Given the description of an element on the screen output the (x, y) to click on. 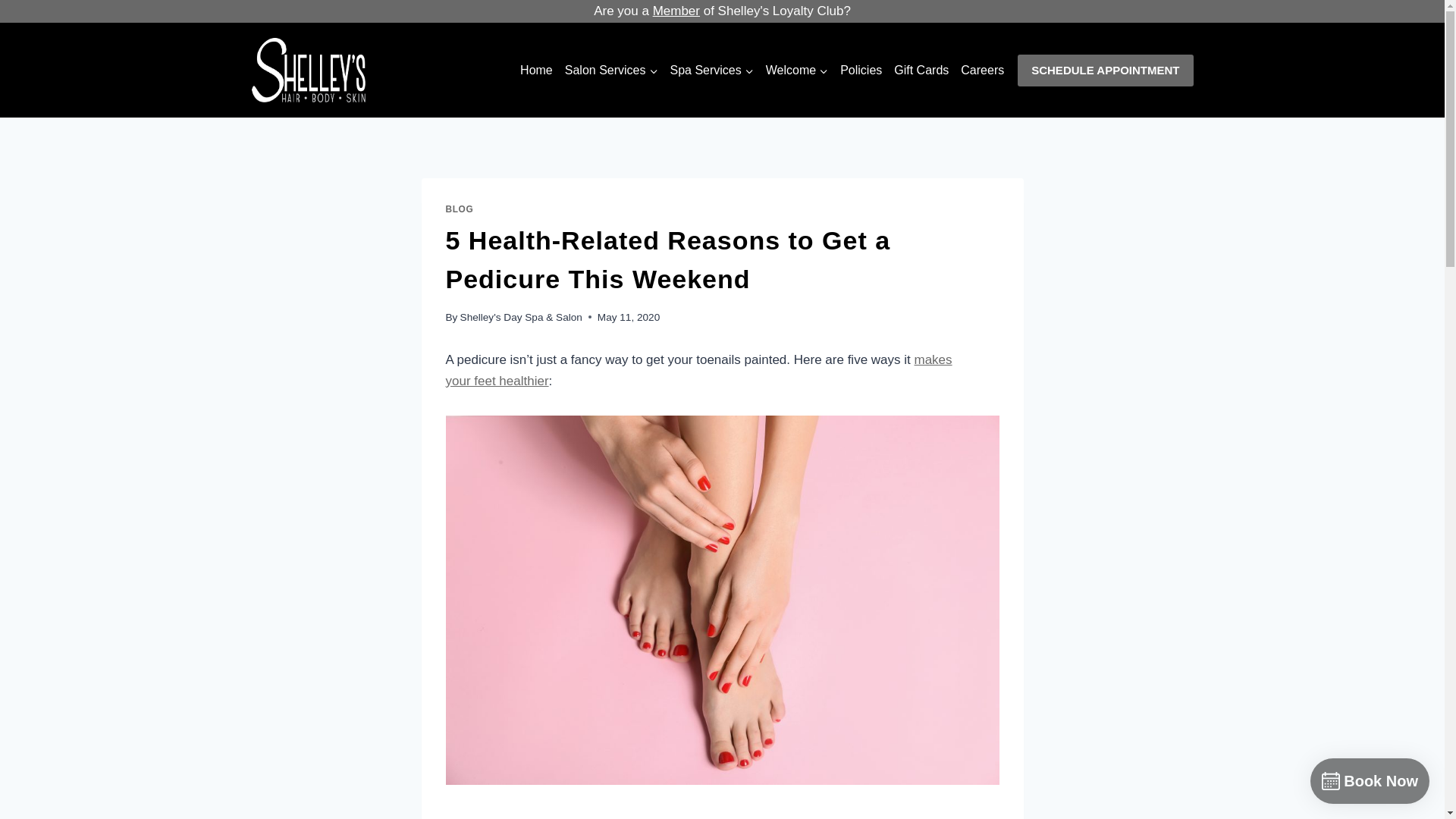
Gift Cards (921, 69)
Home (536, 69)
Member (676, 11)
Salon Services (611, 69)
BLOG (459, 208)
makes your feet healthier (698, 369)
Policies (861, 69)
Spa Services (710, 69)
Careers (982, 69)
